Given the description of an element on the screen output the (x, y) to click on. 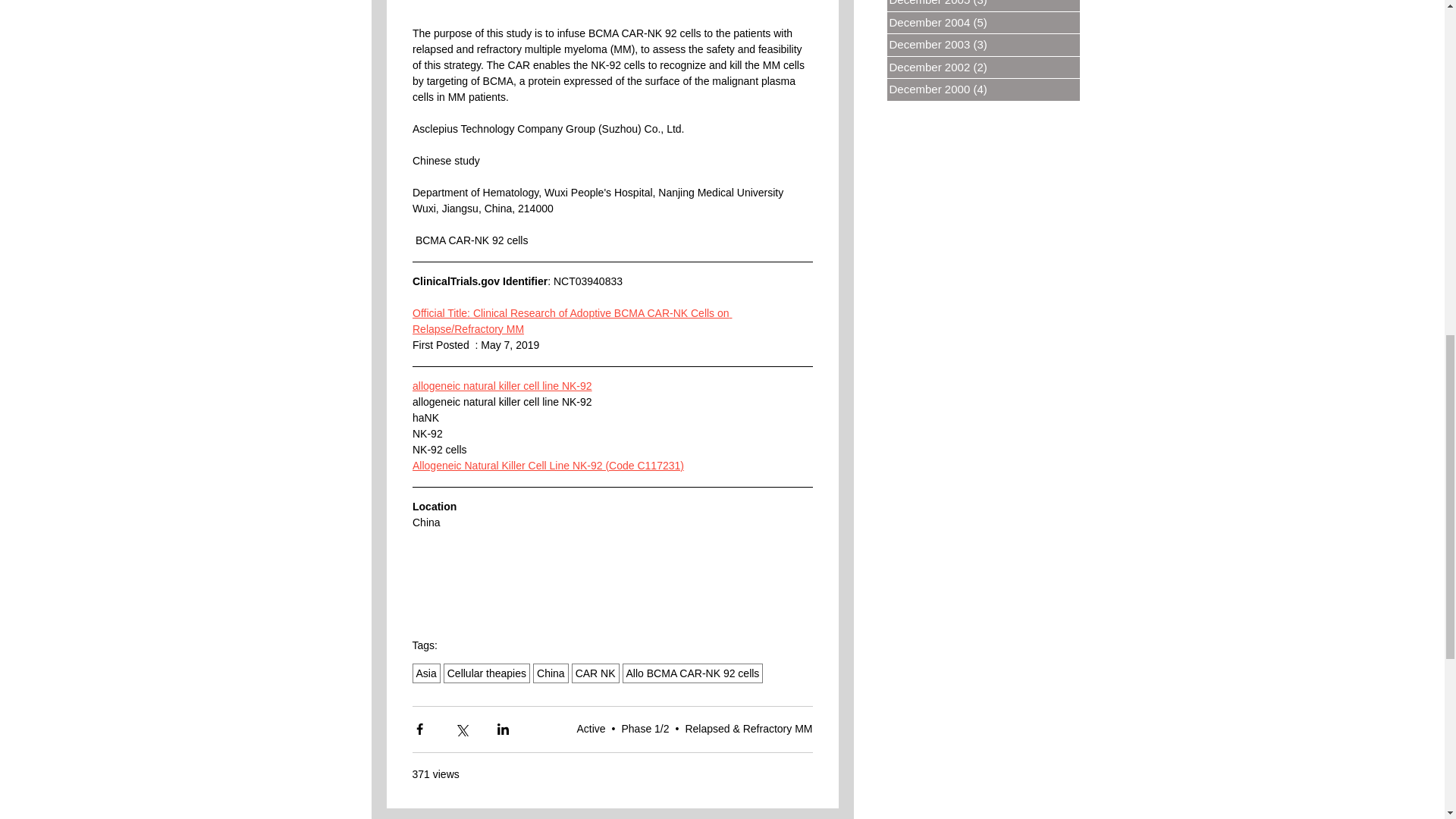
allogeneic natural killer cell line NK-92 (502, 386)
